Given the description of an element on the screen output the (x, y) to click on. 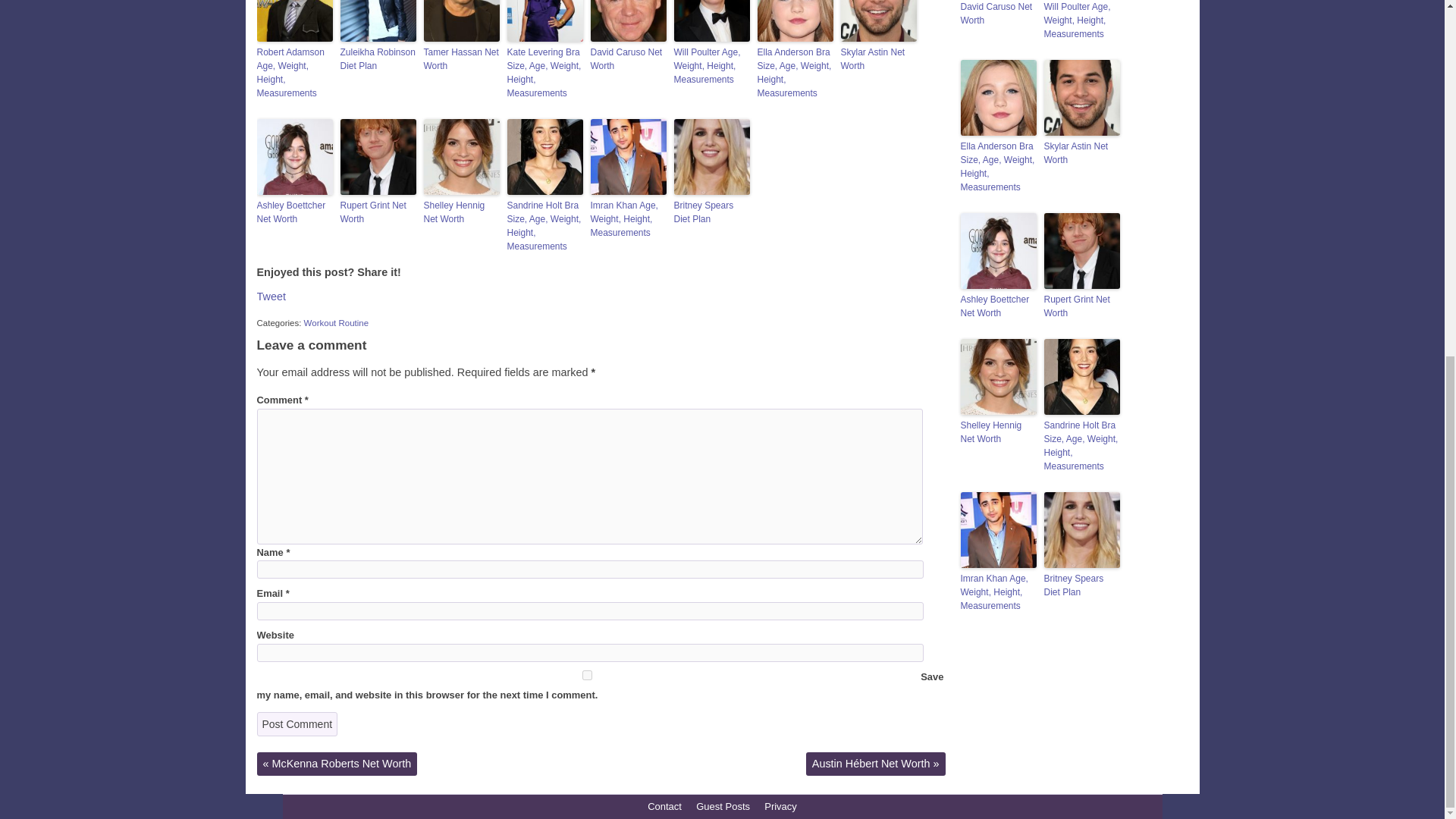
David Caruso Net Worth (627, 58)
Will Poulter Age, Weight, Height, Measurements (710, 65)
Skylar Astin Net Worth (877, 58)
Ashley Boettcher Net Worth (293, 212)
Kate Levering Bra Size, Age, Weight, Height, Measurements (544, 72)
Ella Anderson Bra Size, Age, Weight, Height, Measurements (794, 72)
yes (586, 675)
Robert Adamson Age, Weight, Height, Measurements (293, 72)
Tamer Hassan Net Worth (461, 58)
Post Comment (296, 723)
